Given the description of an element on the screen output the (x, y) to click on. 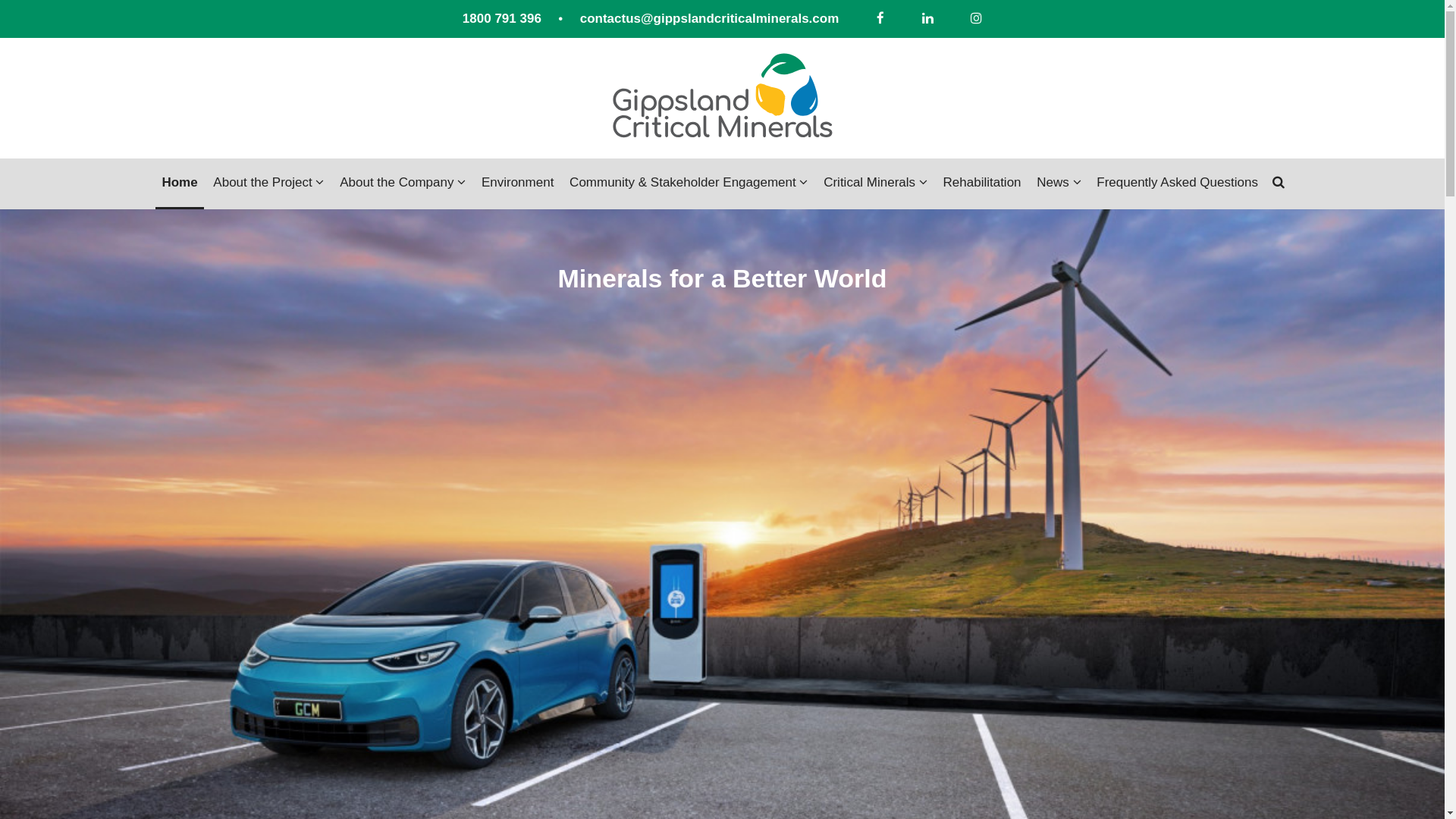
Home Element type: text (179, 183)
News Element type: text (1058, 183)
Critical Minerals Element type: text (875, 183)
About the Company Element type: text (402, 183)
Community & Stakeholder Engagement Element type: text (688, 183)
1800 791 396 Element type: text (501, 18)
Environment Element type: text (517, 183)
Rehabilitation Element type: text (982, 183)
contactus@gippslandcriticalminerals.com Element type: text (709, 18)
About the Project Element type: text (268, 183)
Frequently Asked Questions Element type: text (1177, 183)
